Given the description of an element on the screen output the (x, y) to click on. 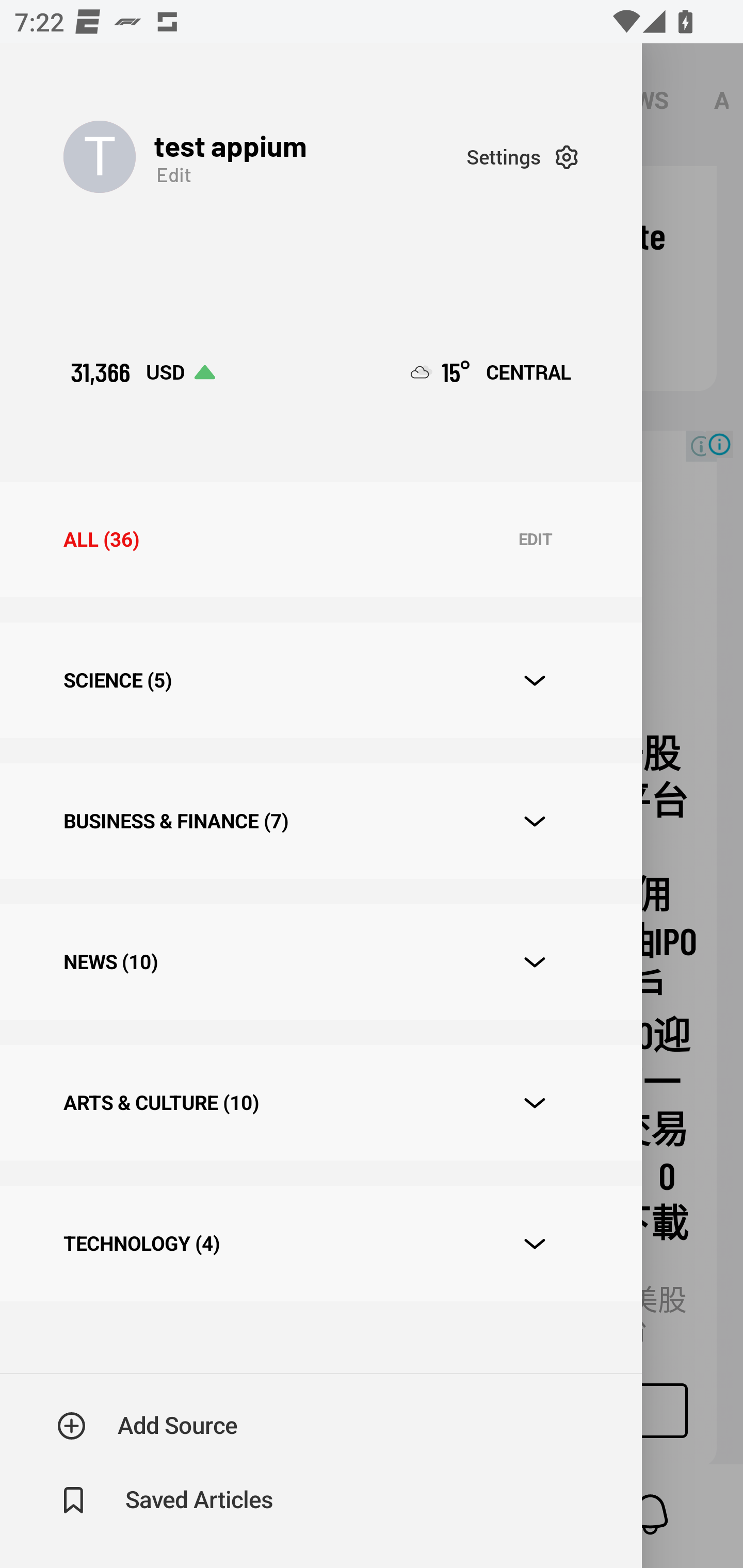
T test appium Edit (264, 156)
Settings Select News Style (522, 156)
31,366 USD Current State of the Currency (142, 372)
Current State of the Weather 15° CENTRAL (490, 372)
ALL  (36) EDIT (320, 539)
EDIT (534, 540)
SCIENCE  (5) Expand Button (320, 680)
Expand Button (534, 681)
BUSINESS & FINANCE  (7) Expand Button (320, 821)
Expand Button (534, 821)
NEWS  (10) Expand Button (320, 961)
Expand Button (534, 961)
ARTS & CULTURE  (10) Expand Button (320, 1102)
Expand Button (534, 1102)
TECHNOLOGY  (4) Expand Button (320, 1243)
Expand Button (534, 1244)
Open Content Store Add Source (147, 1425)
Open Saved News  Saved Articles (166, 1500)
